Given the description of an element on the screen output the (x, y) to click on. 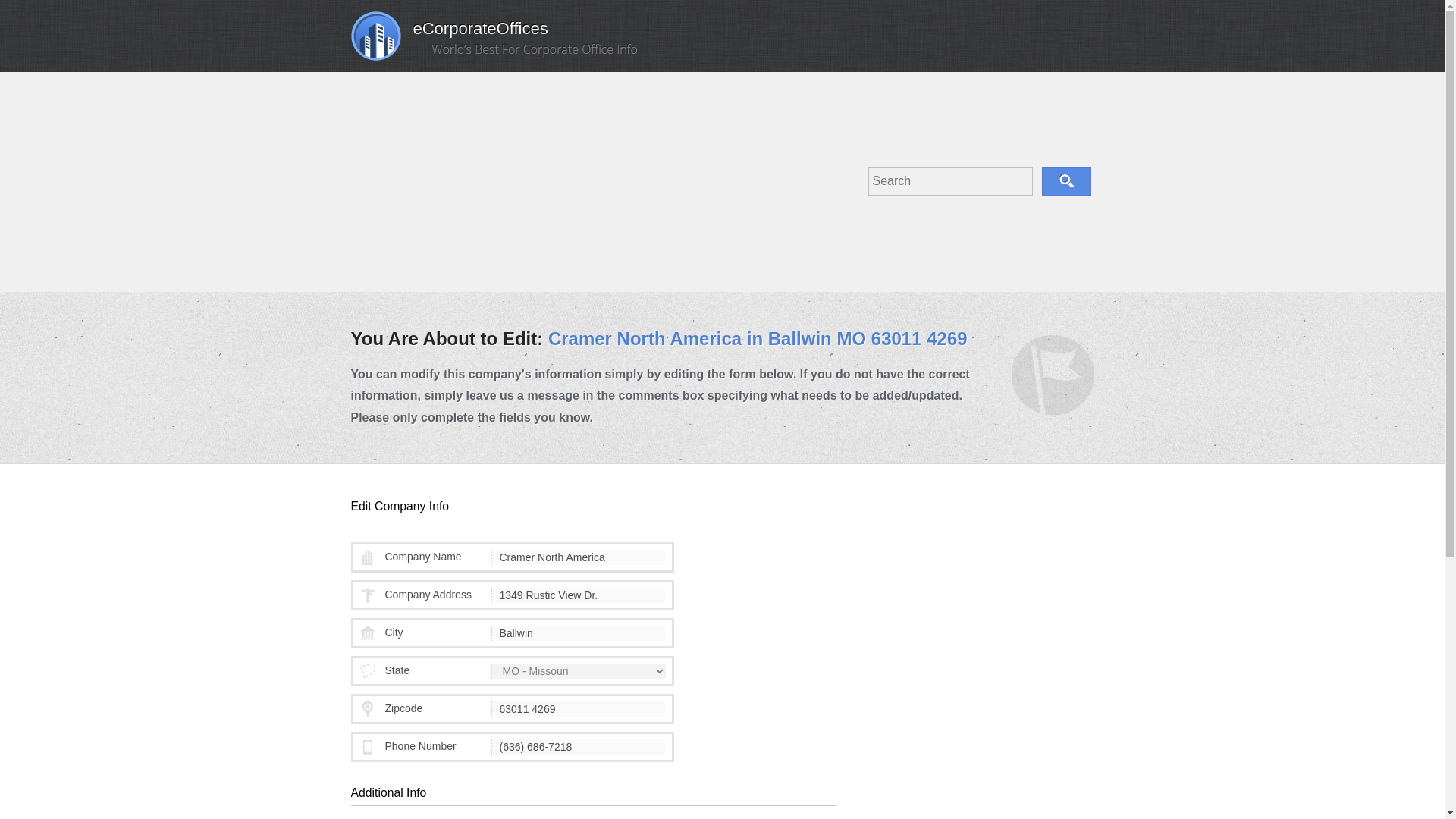
eCorporateOffices (448, 33)
1349 Rustic View Dr. (578, 595)
Ballwin (578, 632)
Search (1066, 181)
eCorporateOffices - Browse All Corporate Offices (448, 33)
Cramer North America (578, 557)
63011 4269 (578, 708)
